Given the description of an element on the screen output the (x, y) to click on. 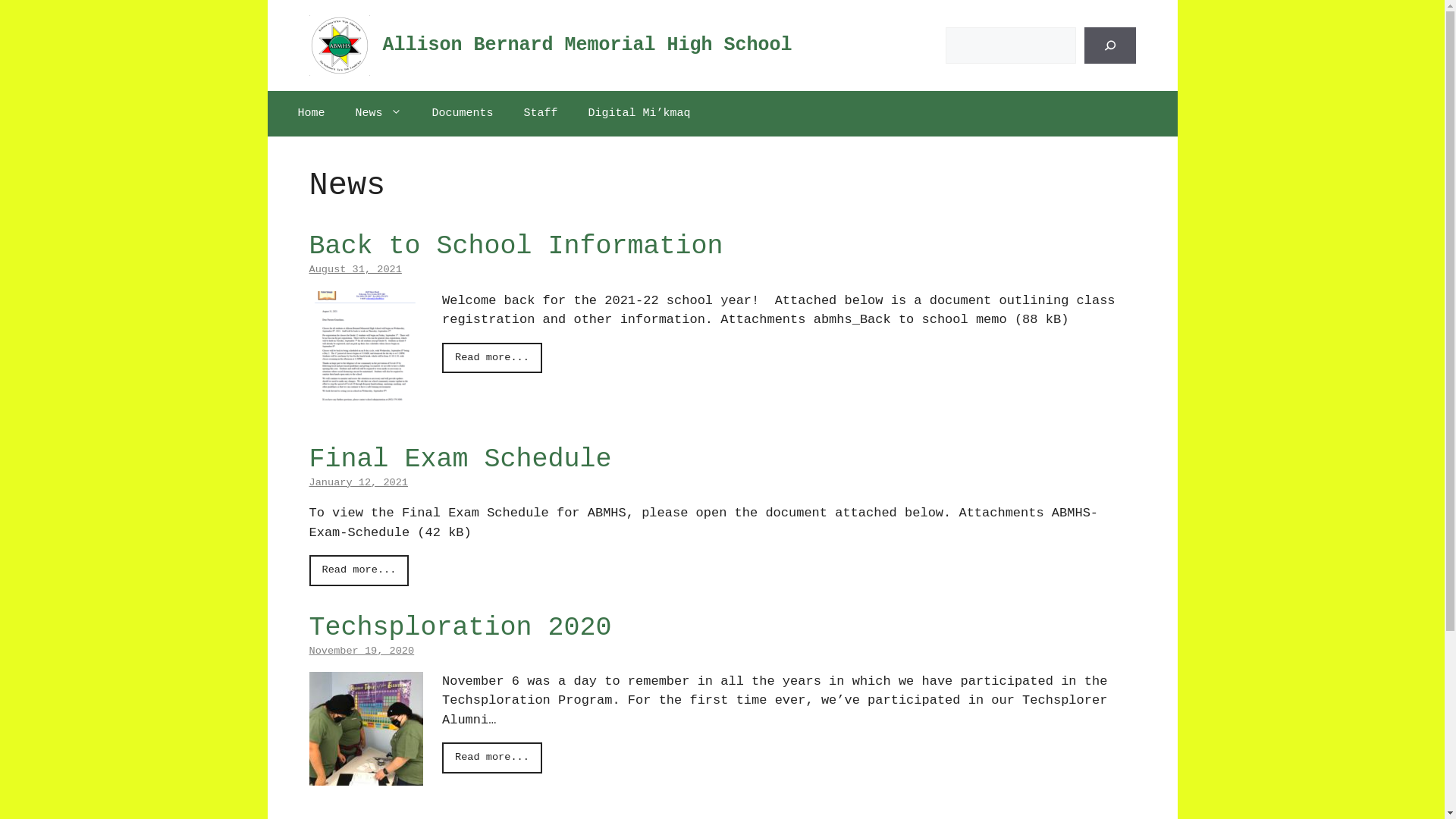
News Element type: text (378, 113)
November 19, 2020 Element type: text (361, 650)
Techsploration 2020 Element type: text (460, 627)
January 12, 2021 Element type: text (358, 482)
Techsploration 2020 Element type: hover (366, 775)
August 31, 2021 Element type: text (355, 269)
Read more... Element type: text (492, 757)
Allison Bernard Memorial High School Element type: text (586, 45)
Staff Element type: text (540, 113)
Documents Element type: text (462, 113)
Read more... Element type: text (492, 357)
Back to School Information Element type: text (516, 246)
Read more... Element type: text (359, 570)
Home Element type: text (310, 113)
Final Exam Schedule Element type: text (460, 459)
Back to School Information Element type: hover (366, 394)
